Given the description of an element on the screen output the (x, y) to click on. 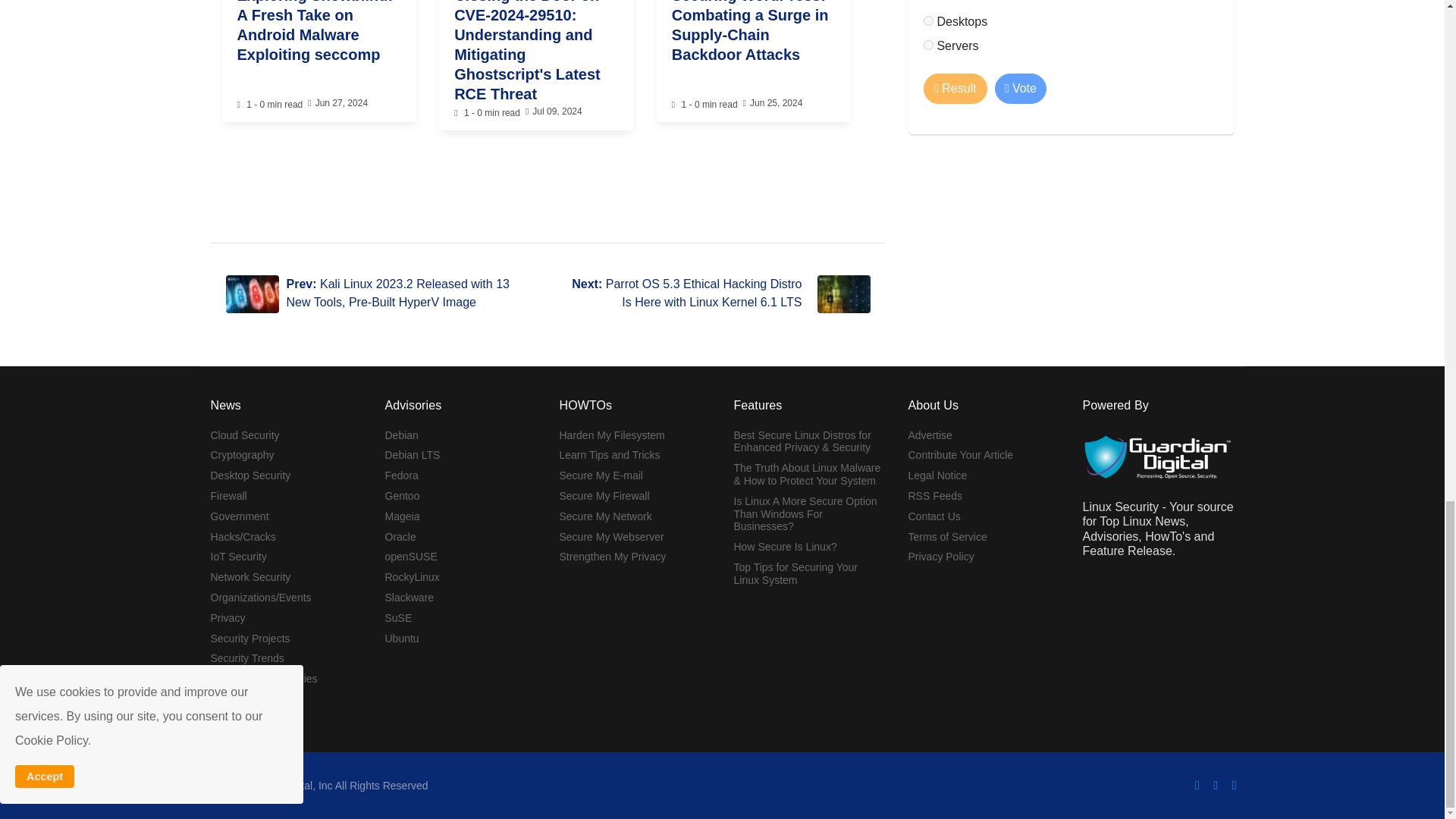
269 (928, 20)
270 (928, 44)
